Given the description of an element on the screen output the (x, y) to click on. 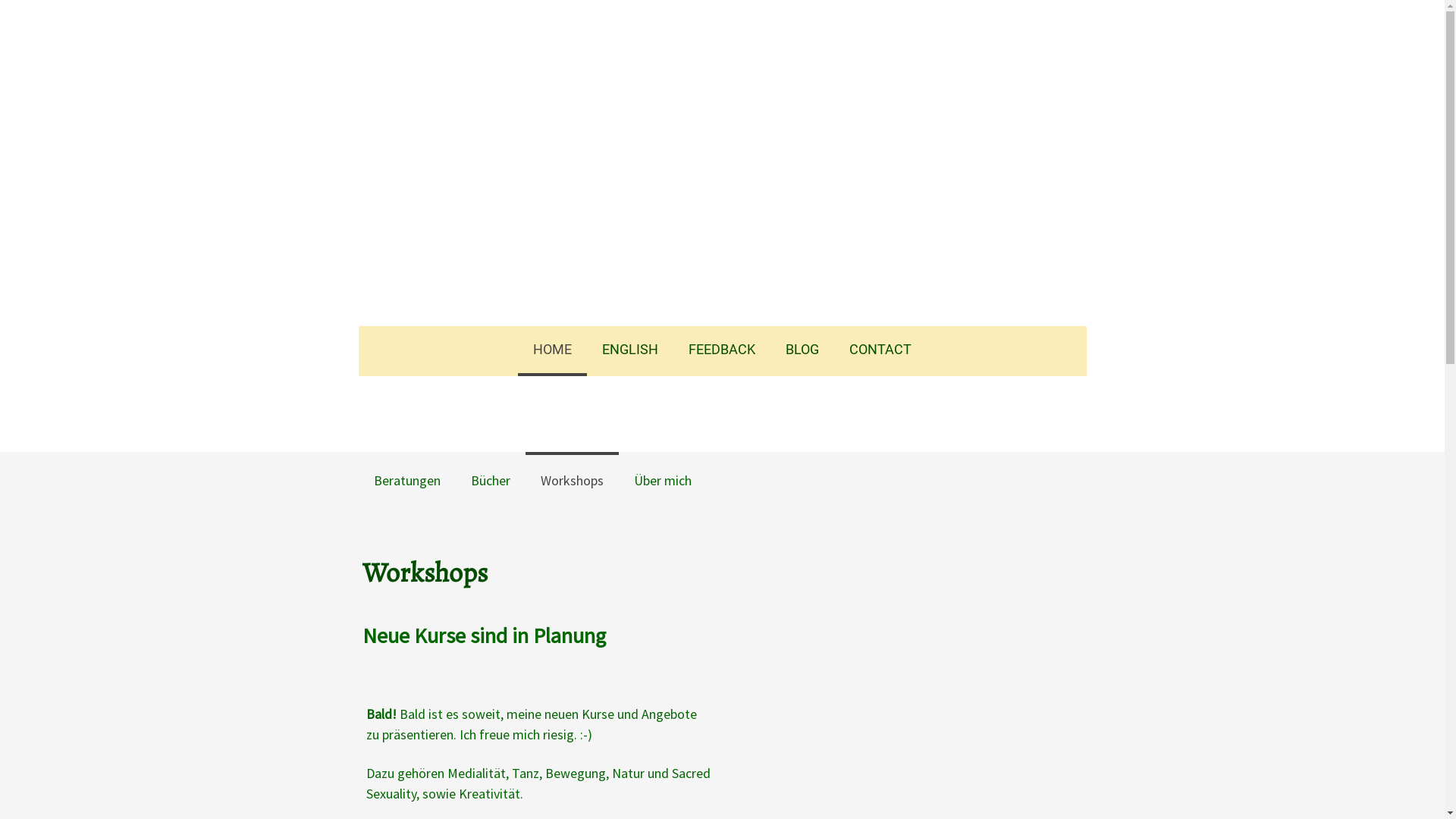
ENGLISH Element type: text (629, 351)
HOME Element type: text (551, 351)
Beratungen Element type: text (406, 478)
Workshops Element type: text (571, 478)
CONTACT Element type: text (880, 351)
FEEDBACK Element type: text (721, 351)
BLOG Element type: text (802, 351)
